Given the description of an element on the screen output the (x, y) to click on. 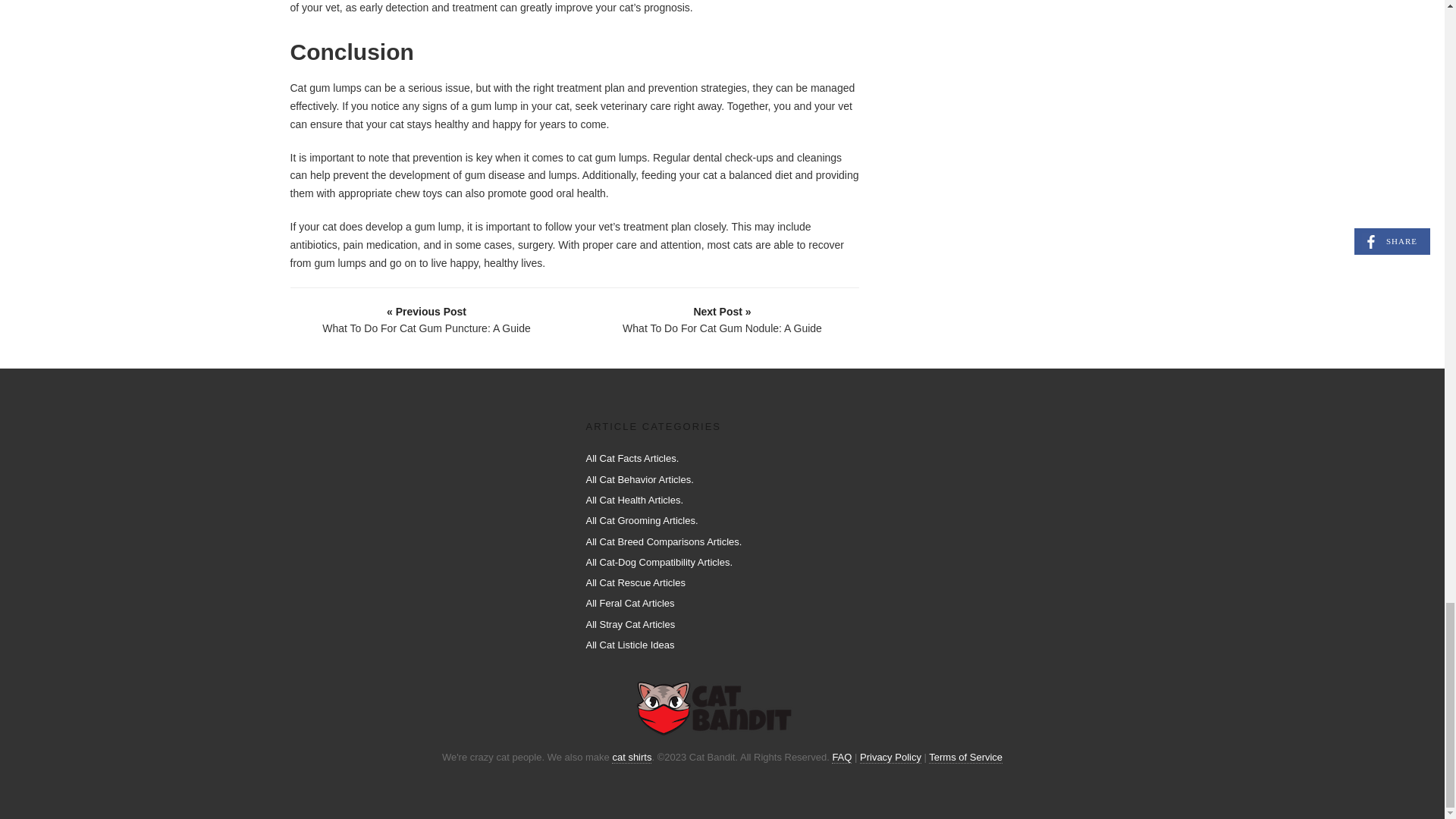
All Cat-Dog Compatibility Articles. (658, 562)
What To Do For Cat Gum Nodule: A Guide (722, 319)
All Cat Facts Articles. (631, 458)
What To Do For Cat Gum Puncture: A Guide (427, 319)
All Feral Cat Articles (629, 603)
All Cat Breed Comparisons Articles. (663, 541)
All Cat Rescue Articles (635, 582)
The Cat Bandit Blog (716, 708)
All Cat Grooming Articles. (641, 520)
All Cat Behavior Articles. (639, 479)
